Given the description of an element on the screen output the (x, y) to click on. 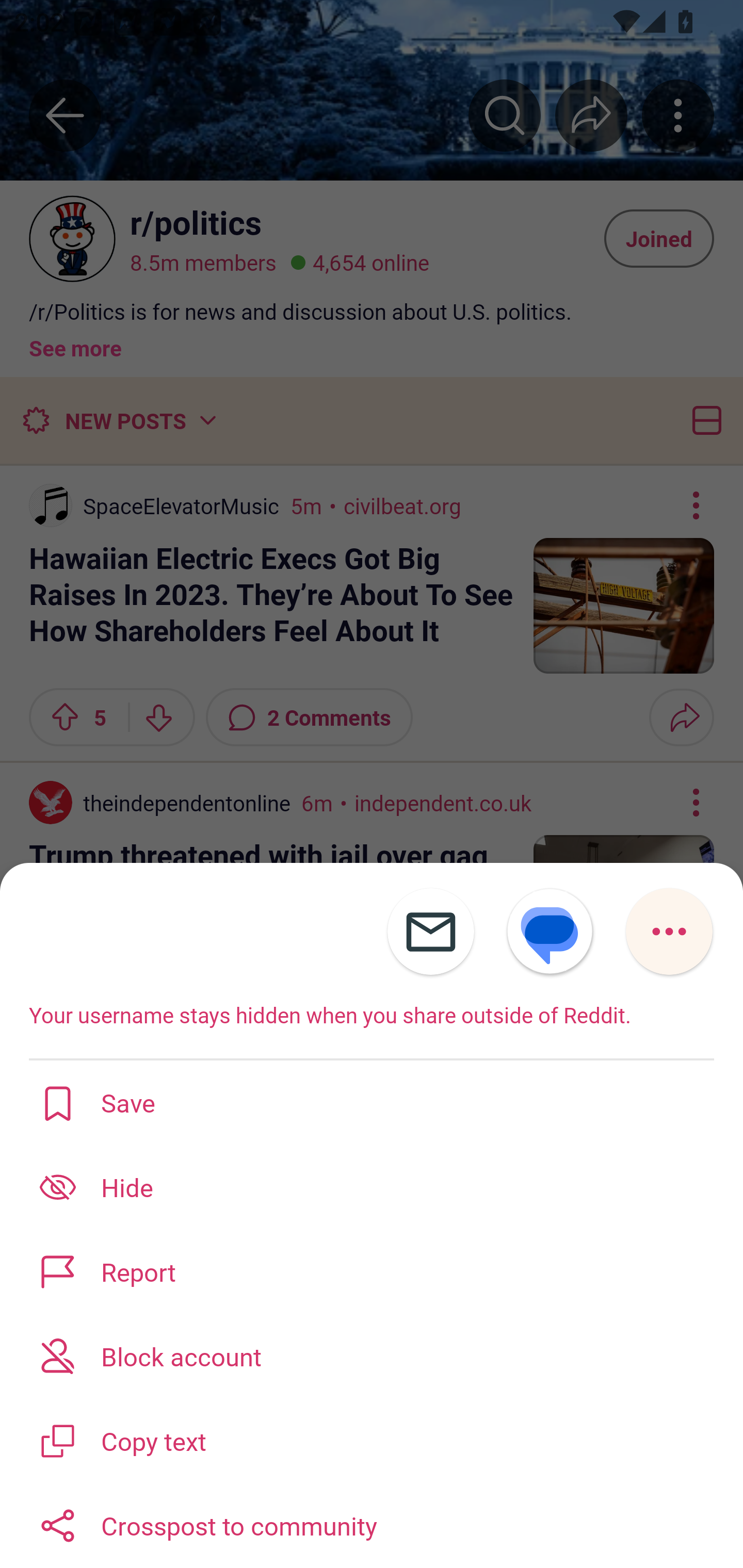
Email (430, 932)
SMS (549, 932)
More (668, 932)
Save (371, 1101)
Hide (371, 1186)
Report (371, 1271)
Block account (371, 1355)
Copy text (371, 1439)
Crosspost to community (371, 1524)
